Given the description of an element on the screen output the (x, y) to click on. 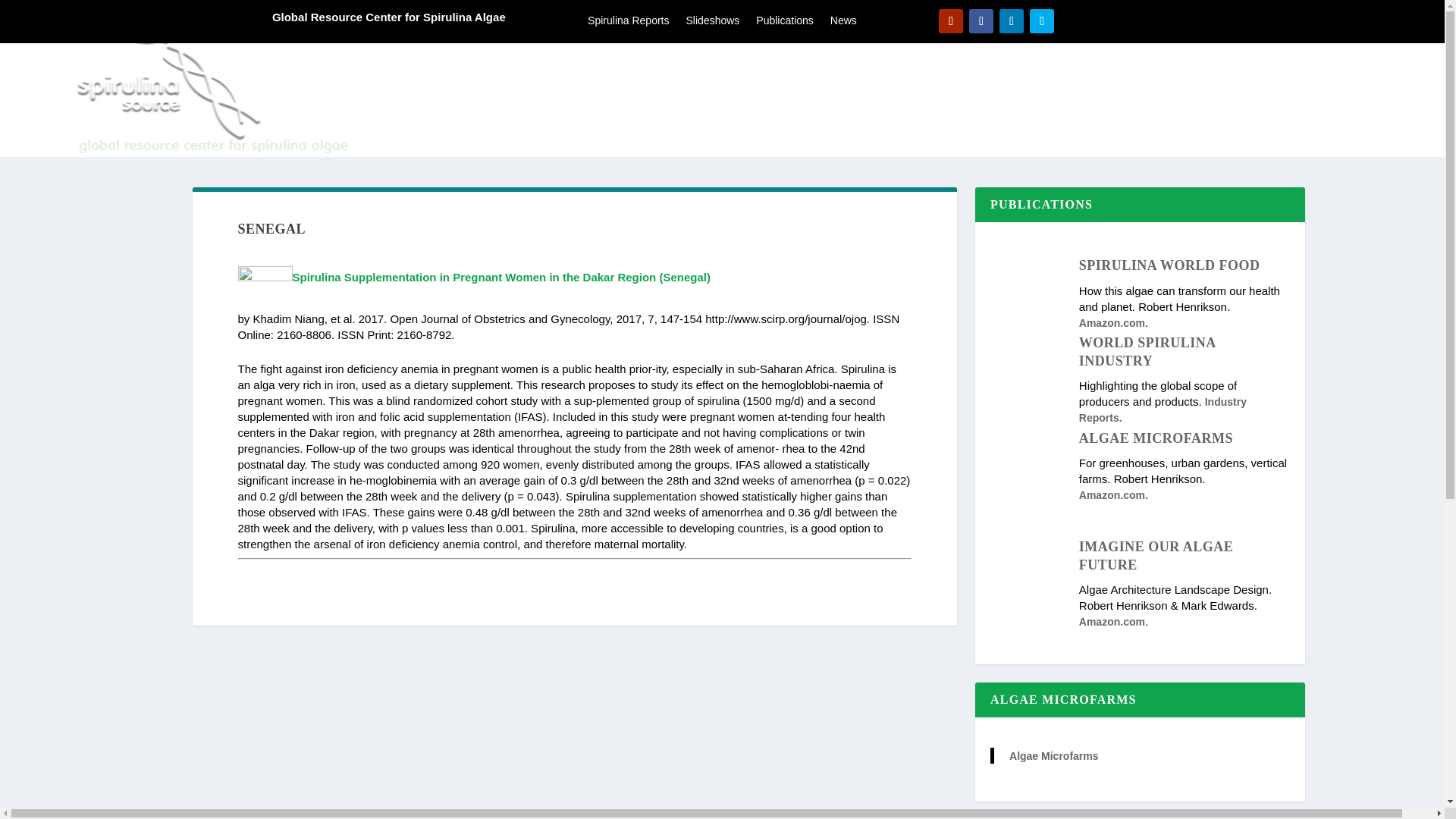
Follow on LinkedIn (1010, 21)
Follow on Facebook (980, 21)
News (843, 23)
Publications (784, 23)
SPIRULINA WORLD FOOD (1169, 264)
MICROFARMS (1226, 100)
Follow on Youtube (950, 21)
Amazon.com (1111, 322)
Slideshows (712, 23)
Spirulina Reports (628, 23)
